Given the description of an element on the screen output the (x, y) to click on. 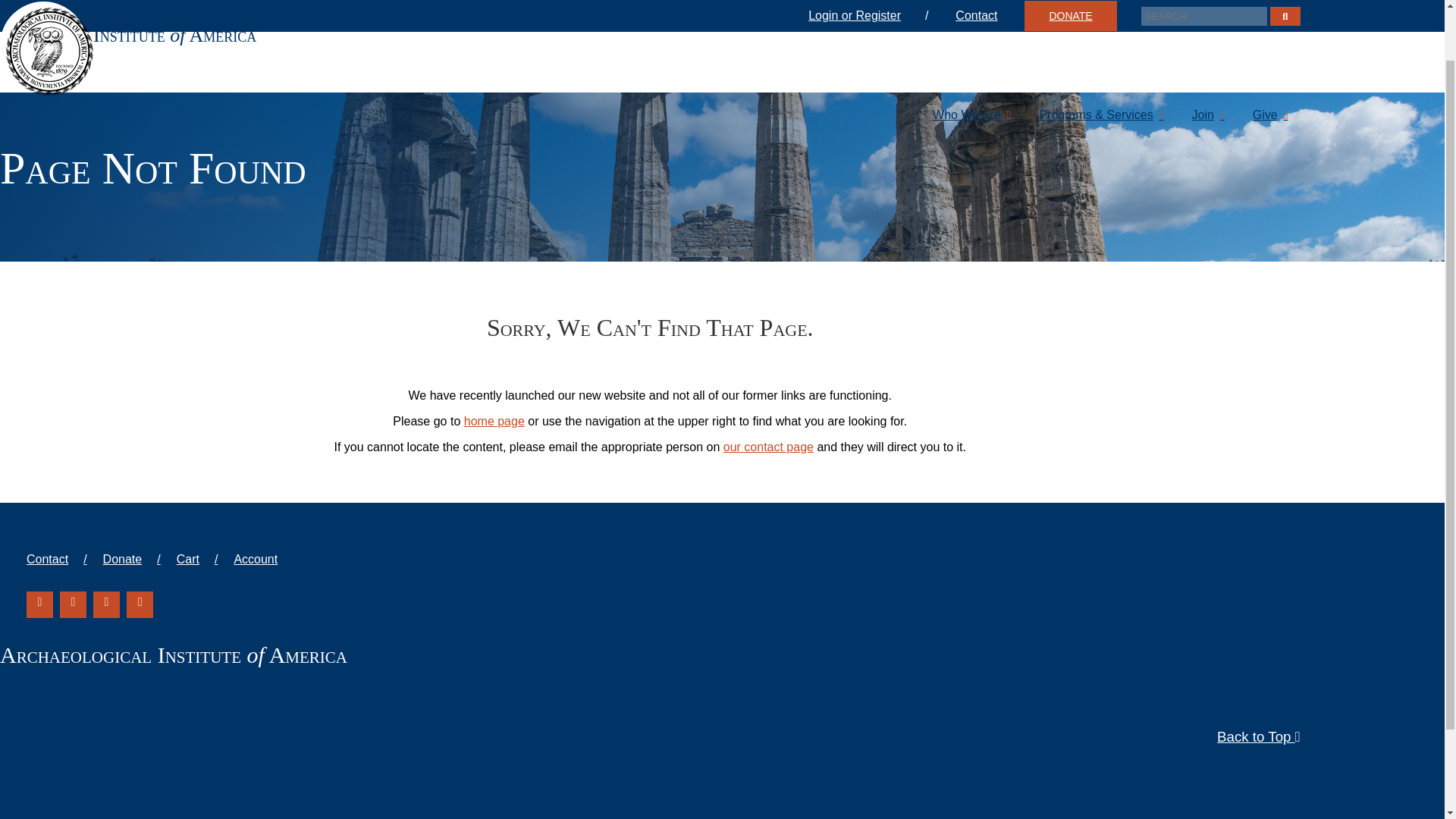
Who We Are (971, 54)
Join (1207, 54)
